Given the description of an element on the screen output the (x, y) to click on. 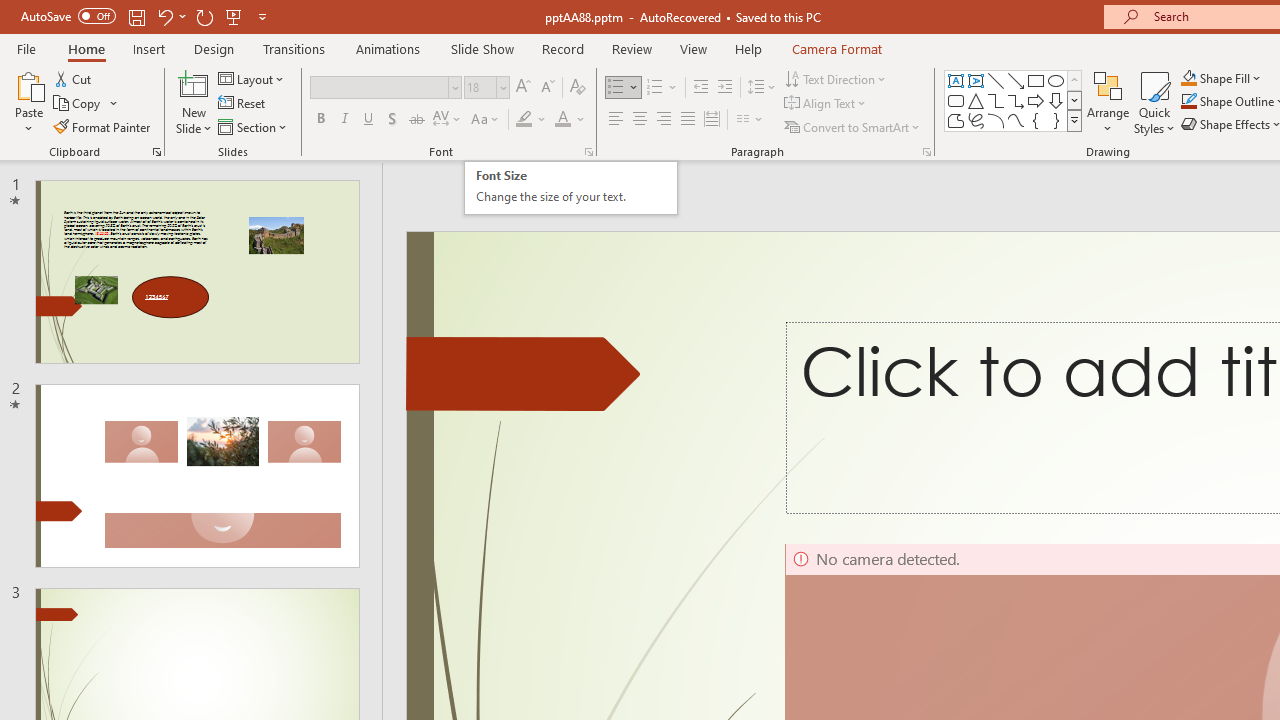
Shape Fill Aqua, Accent 2 (1188, 78)
